Given the description of an element on the screen output the (x, y) to click on. 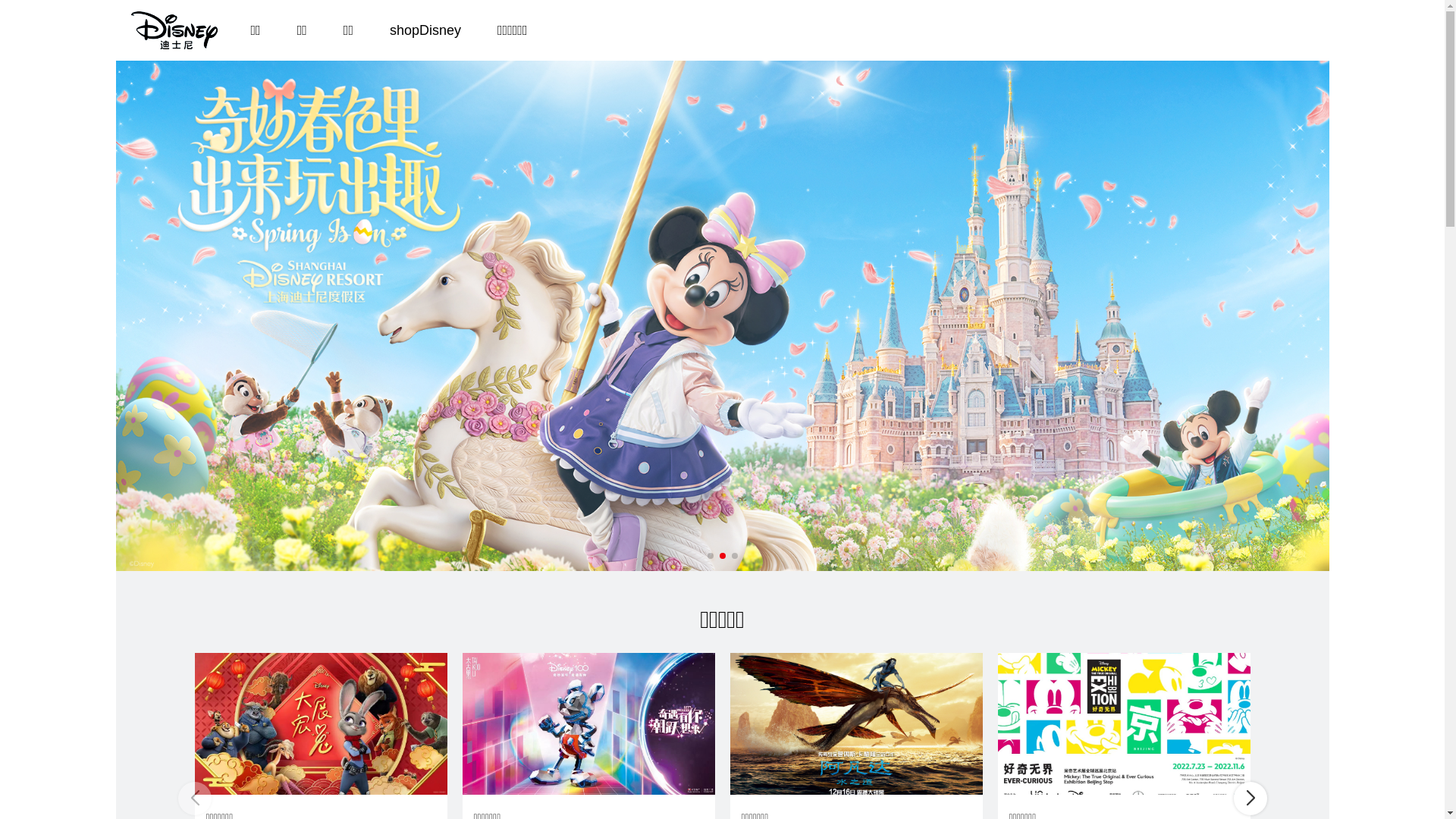
shopDisney Element type: text (425, 30)
